Given the description of an element on the screen output the (x, y) to click on. 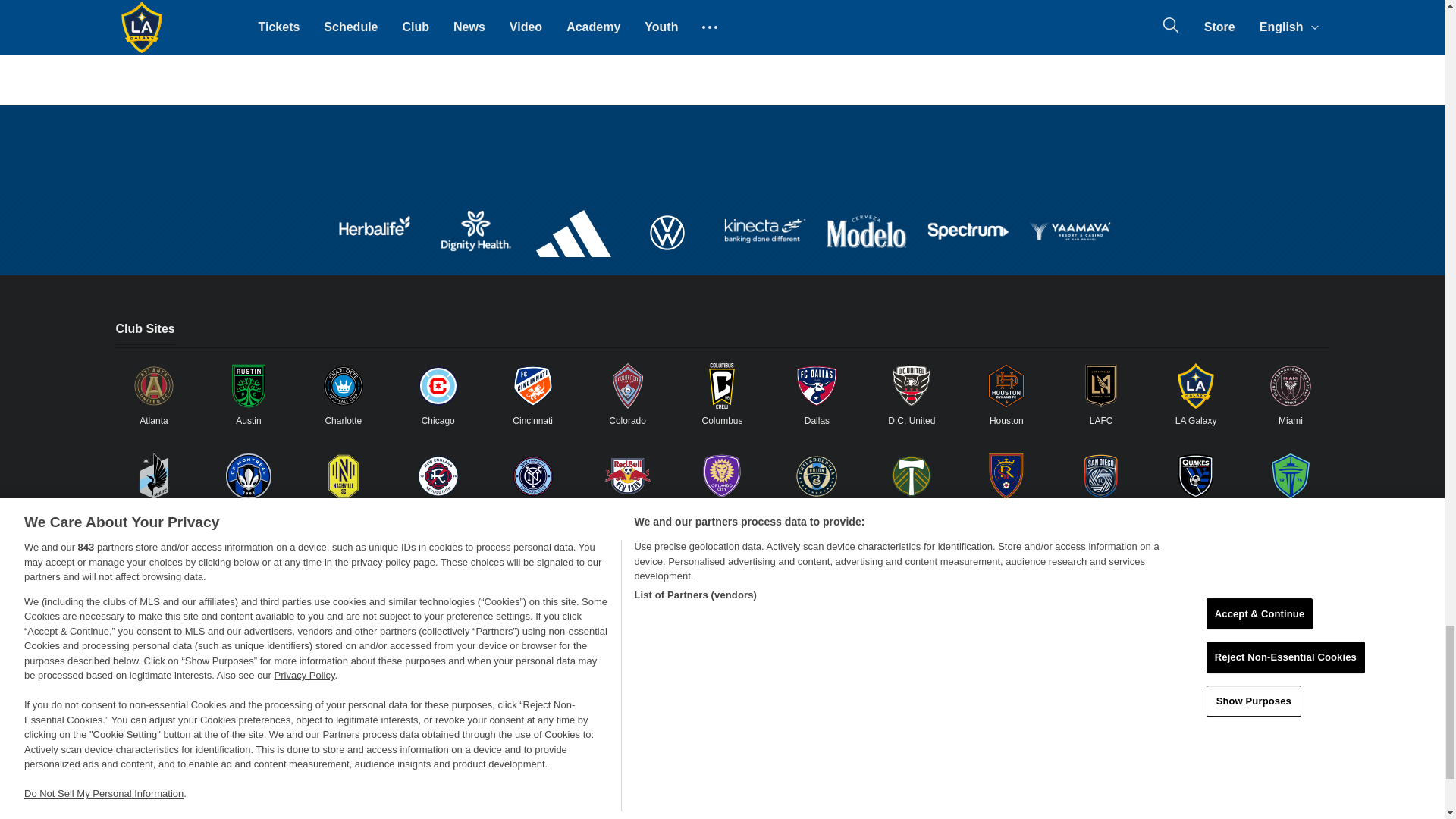
Link to Austin (247, 385)
Link to Chicago (437, 385)
Link to Houston (1006, 385)
Link to Charlotte (343, 385)
Link to Atlanta (153, 385)
Link to Columbus (721, 385)
Link to Montreal (247, 475)
Link to Dallas (816, 385)
Link to Miami (1290, 385)
Link to Cincinnati (533, 385)
